Given the description of an element on the screen output the (x, y) to click on. 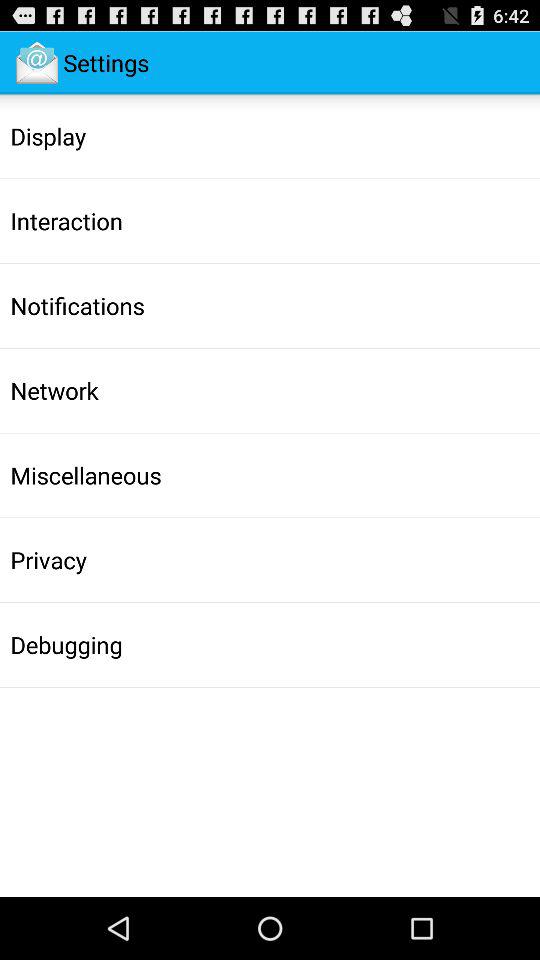
press the miscellaneous app (85, 475)
